Given the description of an element on the screen output the (x, y) to click on. 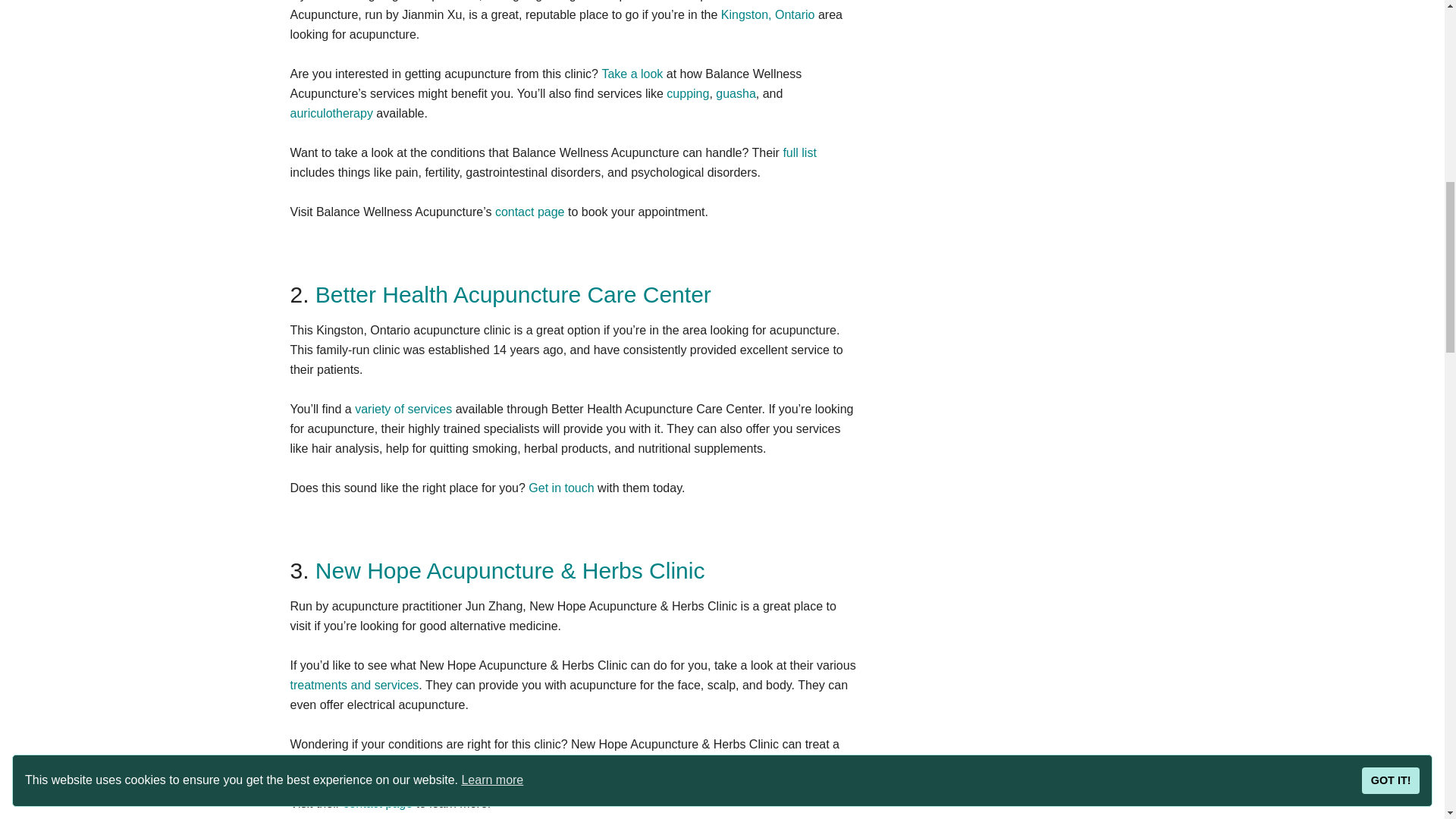
variety of services (403, 408)
contact page (377, 802)
contact page (529, 211)
auriculotherapy (330, 113)
full list (799, 152)
range of conditions (340, 763)
Better Health Acupuncture Care Center (513, 294)
treatments and services (354, 684)
Take a look (631, 73)
cupping (687, 92)
Get in touch (561, 487)
guasha (735, 92)
Kingston, Ontario (767, 14)
